Given the description of an element on the screen output the (x, y) to click on. 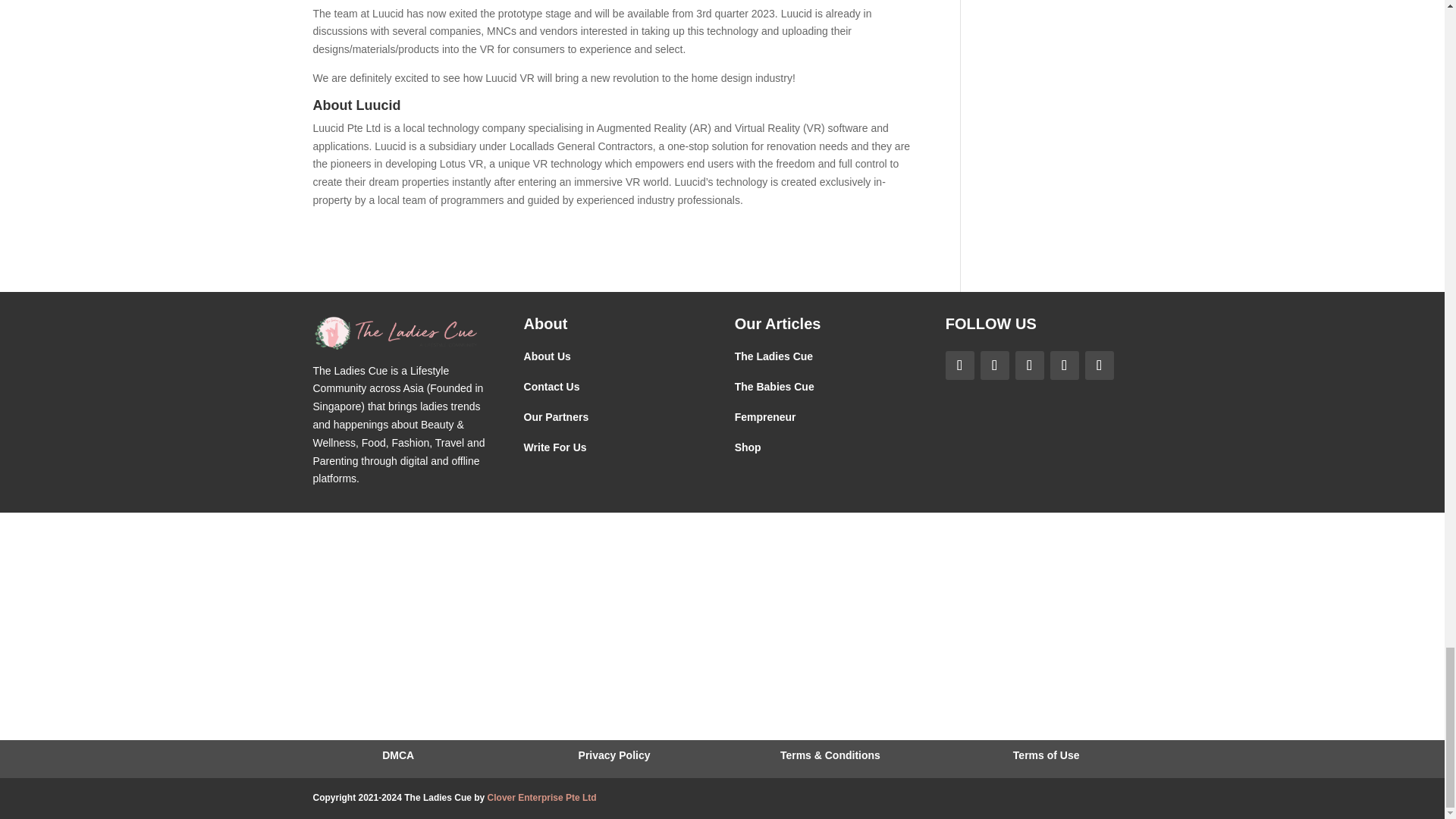
Follow on X (1063, 365)
Follow on Youtube (1098, 365)
Follow on Facebook (959, 365)
Follow on Pinterest (1028, 365)
Follow on Instagram (994, 365)
cropped-TLC-web-header.png (396, 333)
